Given the description of an element on the screen output the (x, y) to click on. 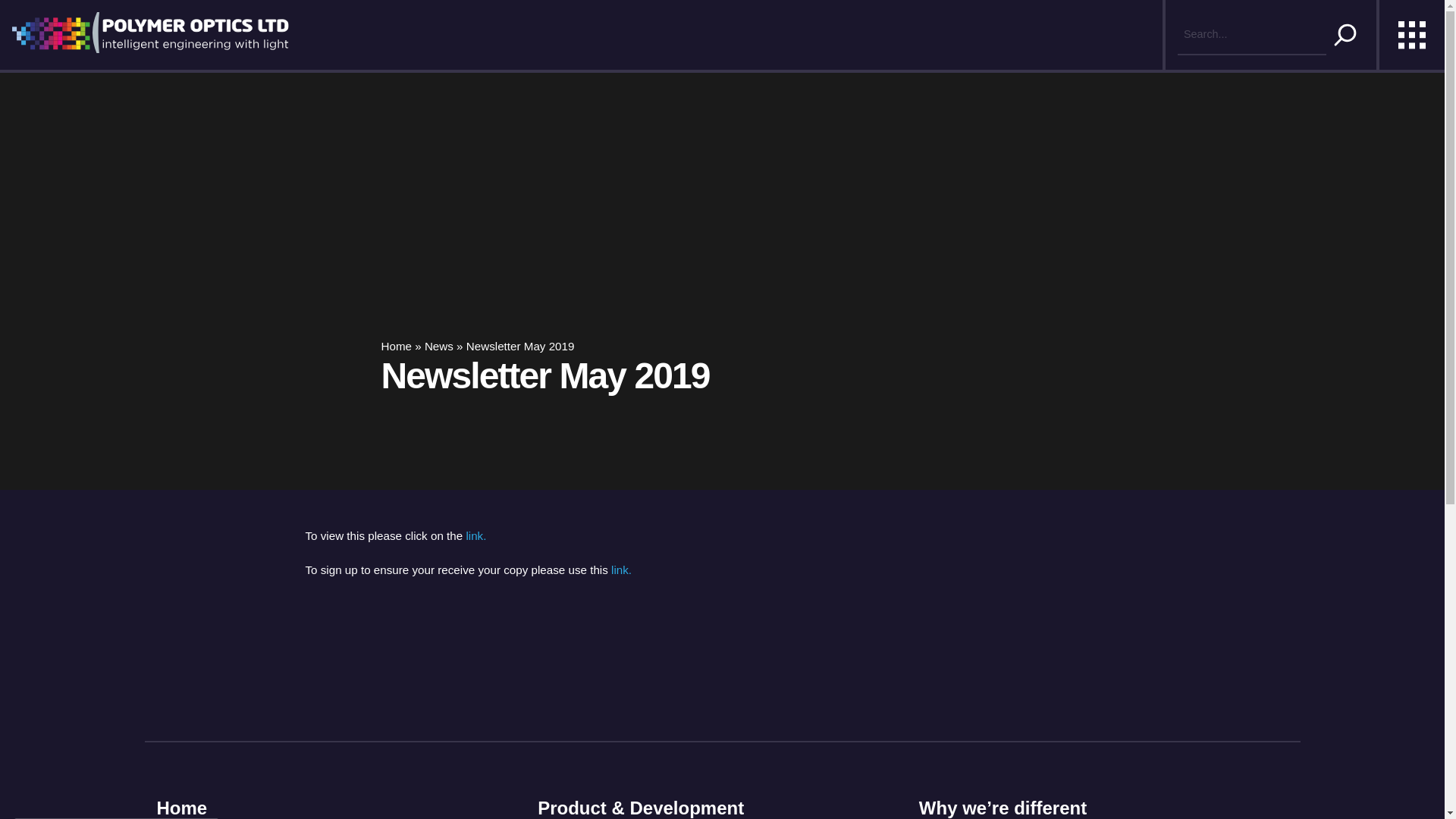
Menu (1411, 35)
Search (1345, 34)
